Given the description of an element on the screen output the (x, y) to click on. 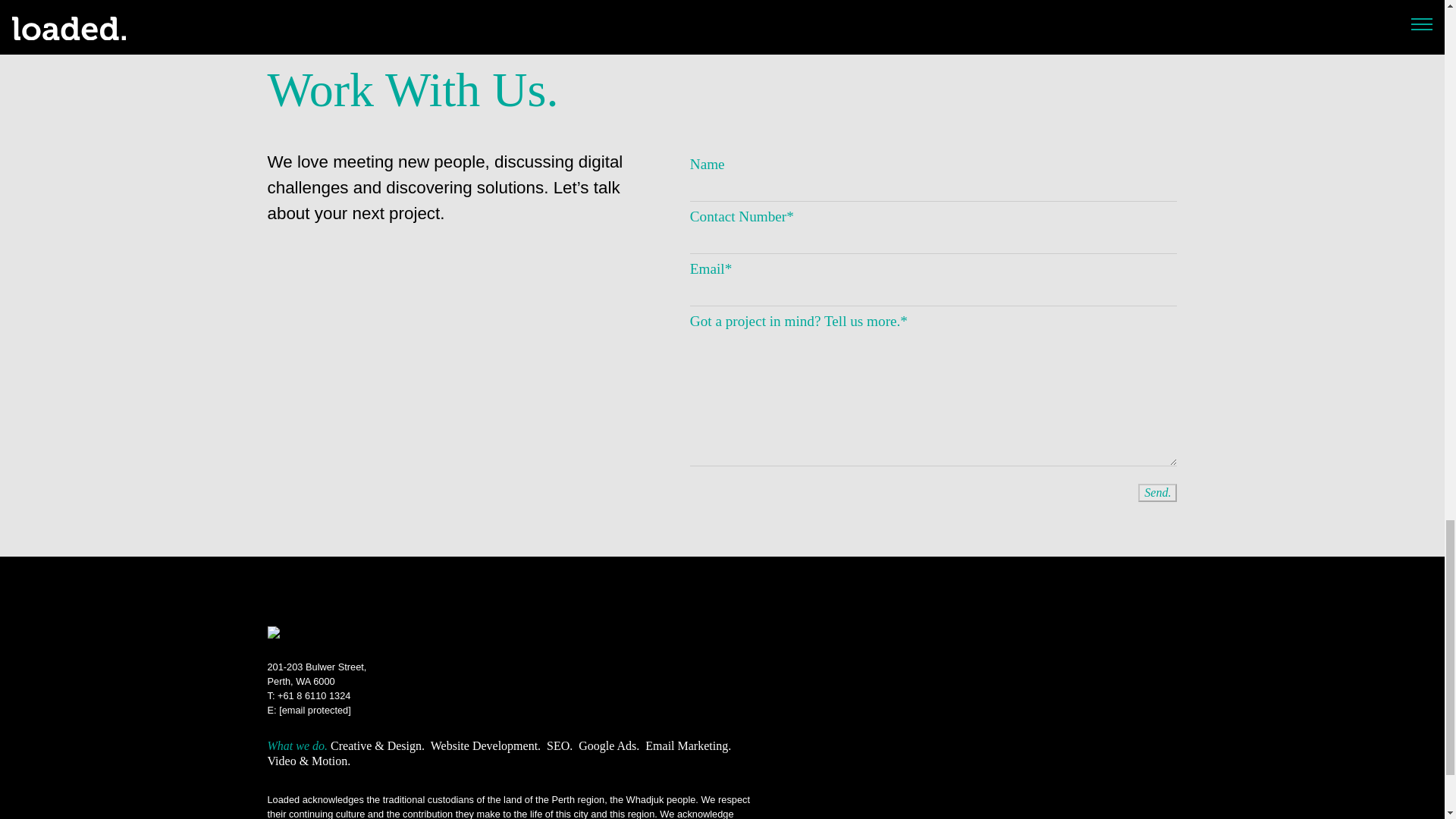
Send. (1157, 493)
Email Marketing. (687, 745)
SEO. (559, 745)
Send. (1157, 493)
SEO Perth (559, 745)
Email Marketing Expertise (687, 745)
WordPress Website Design Perth (485, 745)
Website Development. (316, 673)
Google Ads and Digital Marketing Expertise (485, 745)
Google Ads. (608, 745)
